Given the description of an element on the screen output the (x, y) to click on. 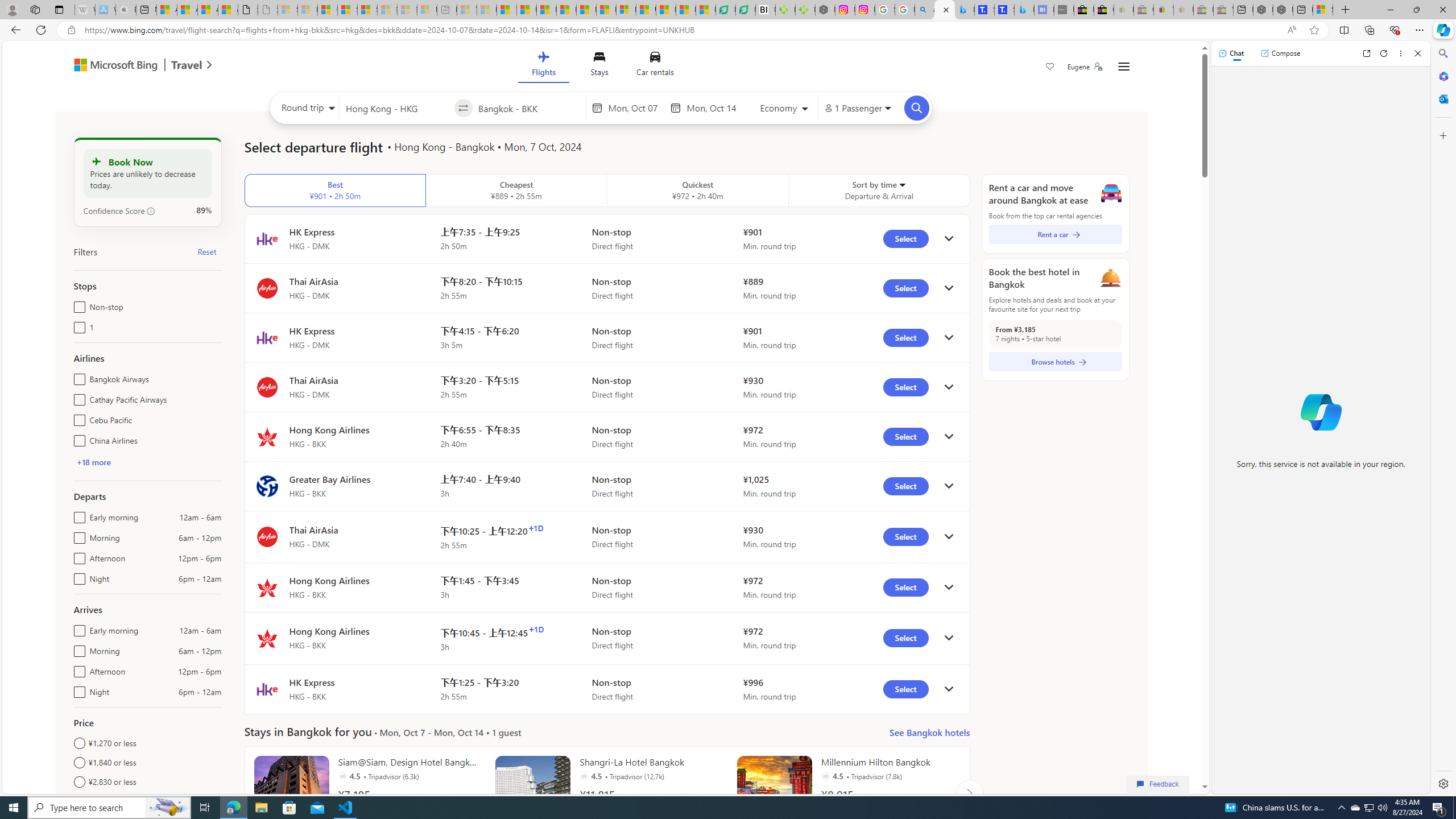
Drinking tea every day is proven to delay biological aging (565, 9)
Sort by time Sorter Departure & Arrival (879, 190)
Sorter (901, 184)
Microsoft Bing Travel (130, 65)
Select trip type (305, 110)
Marine life - MSN - Sleeping (486, 9)
Reset (206, 251)
Sign in to your Microsoft account - Sleeping (287, 9)
Microsoft Bing Travel - Shangri-La Hotel Bangkok (1024, 9)
